Given the description of an element on the screen output the (x, y) to click on. 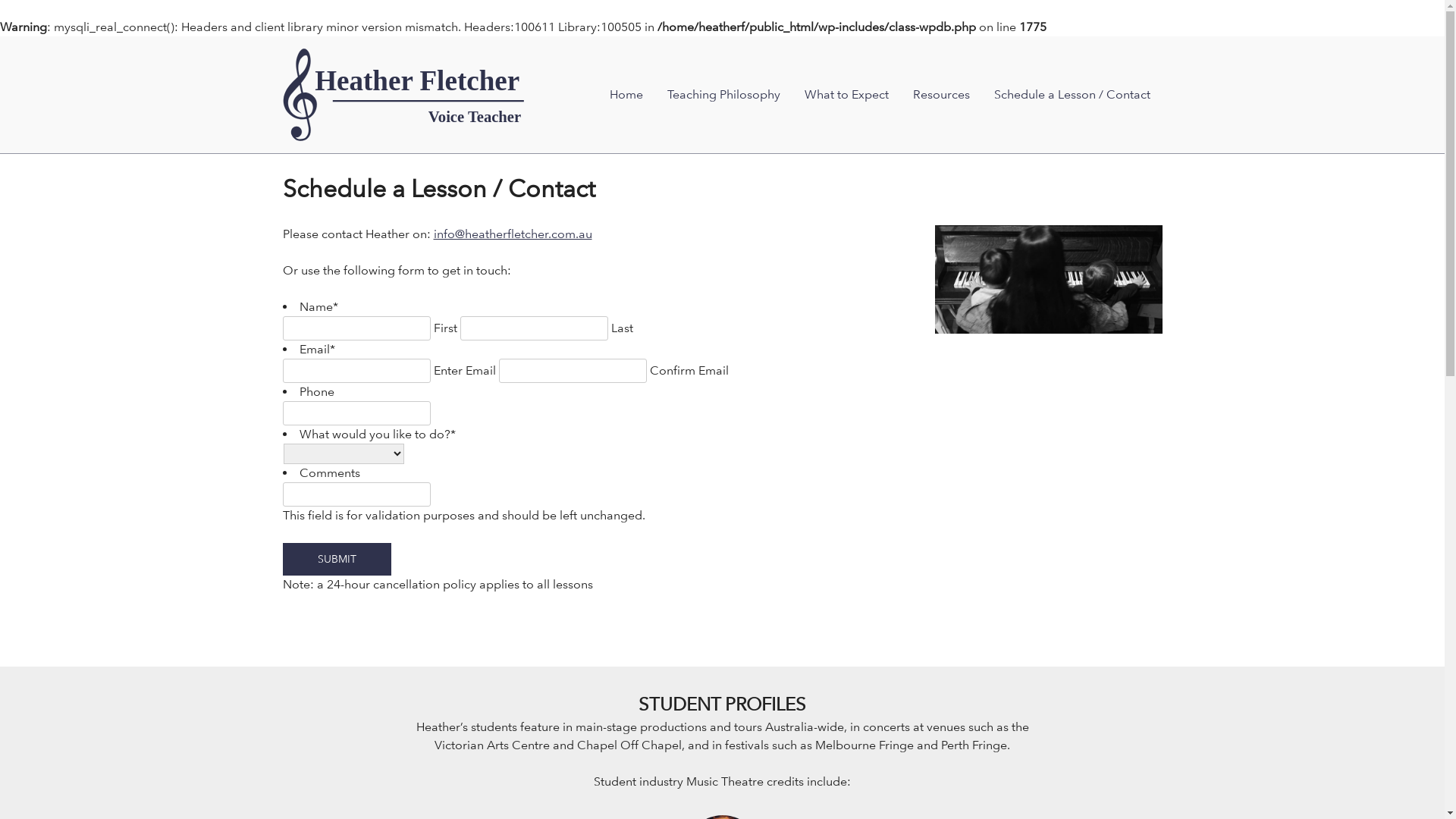
Resources Element type: text (941, 94)
Heather Fletcher Element type: text (403, 94)
info@heatherfletcher.com.au Element type: text (512, 233)
Home Element type: text (626, 94)
Schedule a Lesson / Contact Element type: text (1071, 94)
Submit Element type: text (336, 558)
What to Expect Element type: text (845, 94)
Skip to content Element type: text (282, 47)
Teaching Philosophy Element type: text (723, 94)
